Given the description of an element on the screen output the (x, y) to click on. 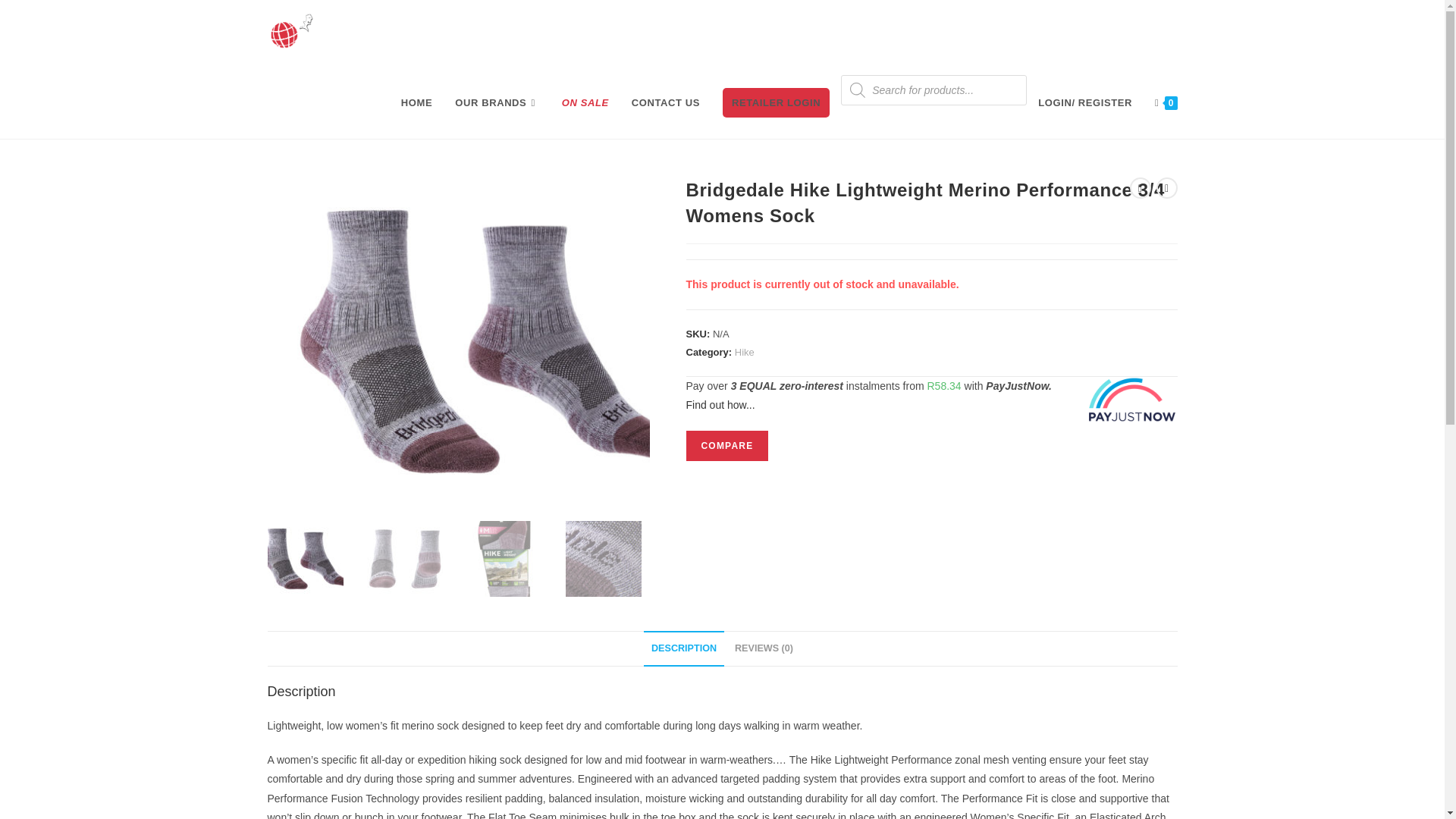
RETAILER LOGIN (776, 103)
ON SALE (585, 103)
OUR BRANDS (497, 103)
CONTACT US (665, 103)
HOME (417, 103)
